Given the description of an element on the screen output the (x, y) to click on. 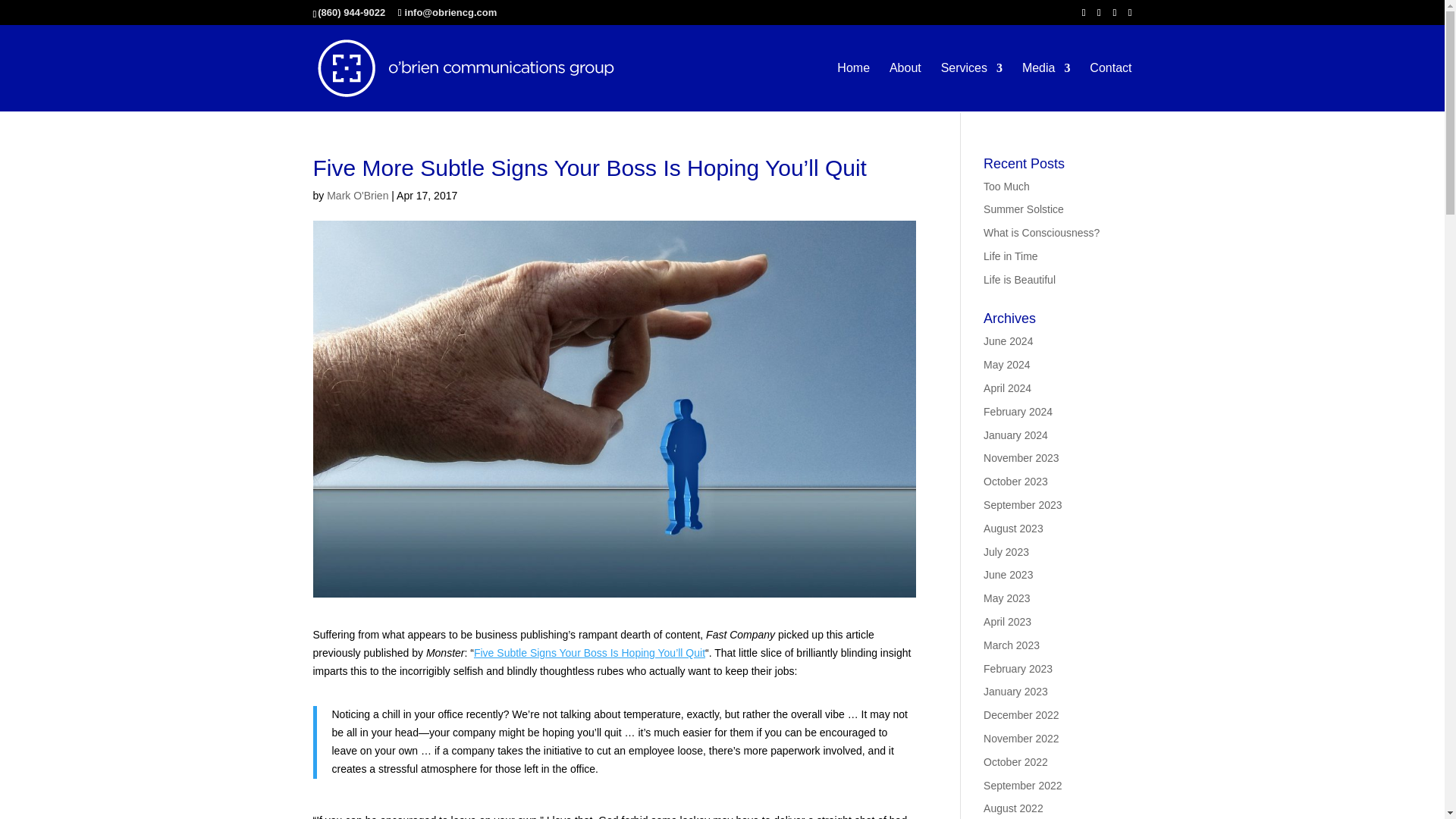
Posts by Mark O'Brien (357, 195)
Summer Solstice (1024, 209)
Mark O'Brien (357, 195)
What is Consciousness? (1041, 232)
Media (1046, 86)
Too Much (1006, 186)
Services (971, 86)
